Given the description of an element on the screen output the (x, y) to click on. 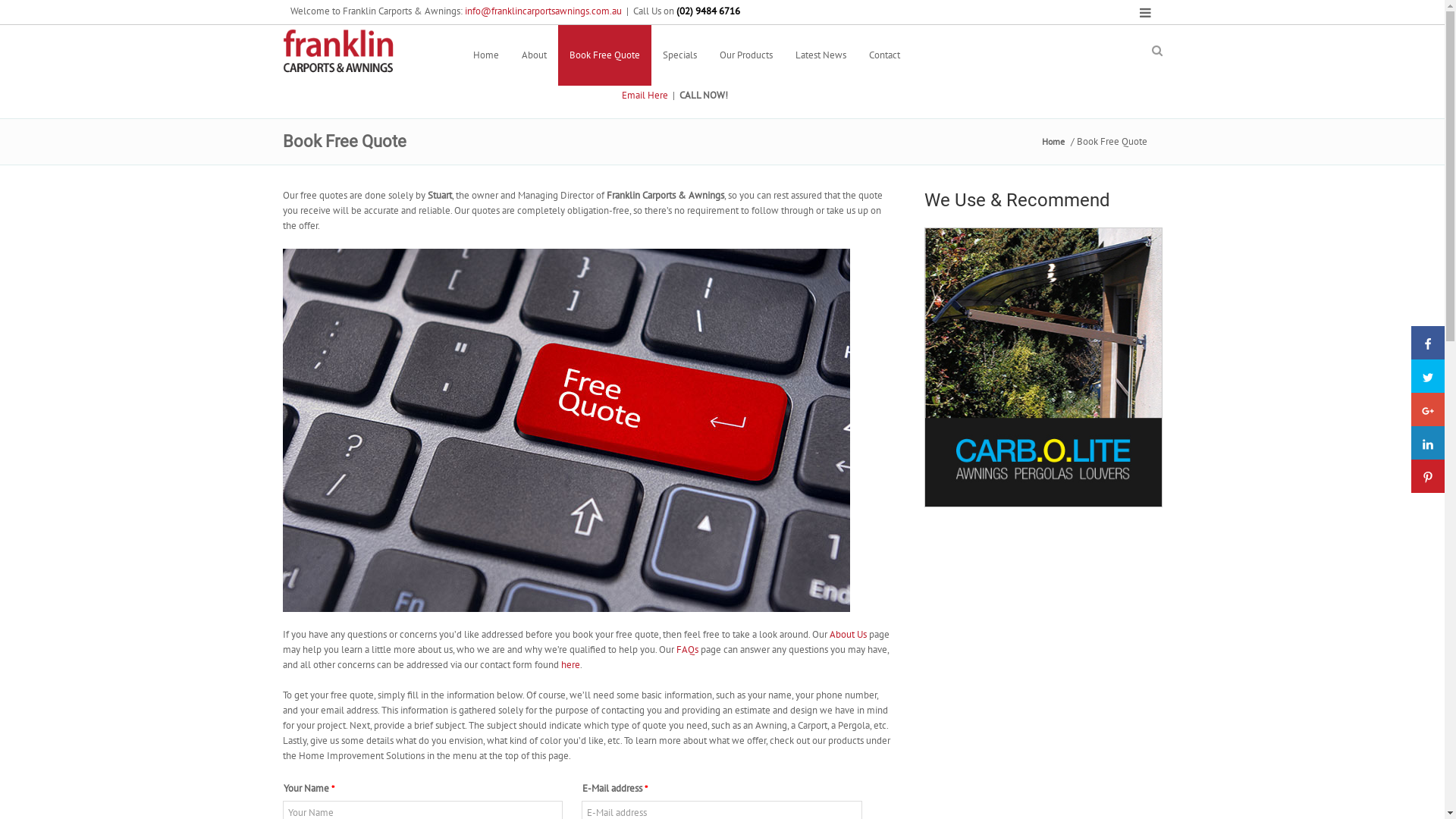
Contact Element type: text (883, 55)
here Element type: text (570, 664)
Home Element type: text (485, 55)
Email Here Element type: text (644, 94)
About Us Element type: text (847, 633)
(02) 9484 6716 Element type: text (777, 93)
FAQs Element type: text (687, 649)
Book Free Quote Element type: text (604, 55)
Our Products Element type: text (746, 55)
Specials Element type: text (678, 55)
About Element type: text (533, 55)
Home Element type: text (1052, 141)
Latest News Element type: text (820, 55)
info@franklincarportsawnings.com.au Element type: text (542, 10)
